Given the description of an element on the screen output the (x, y) to click on. 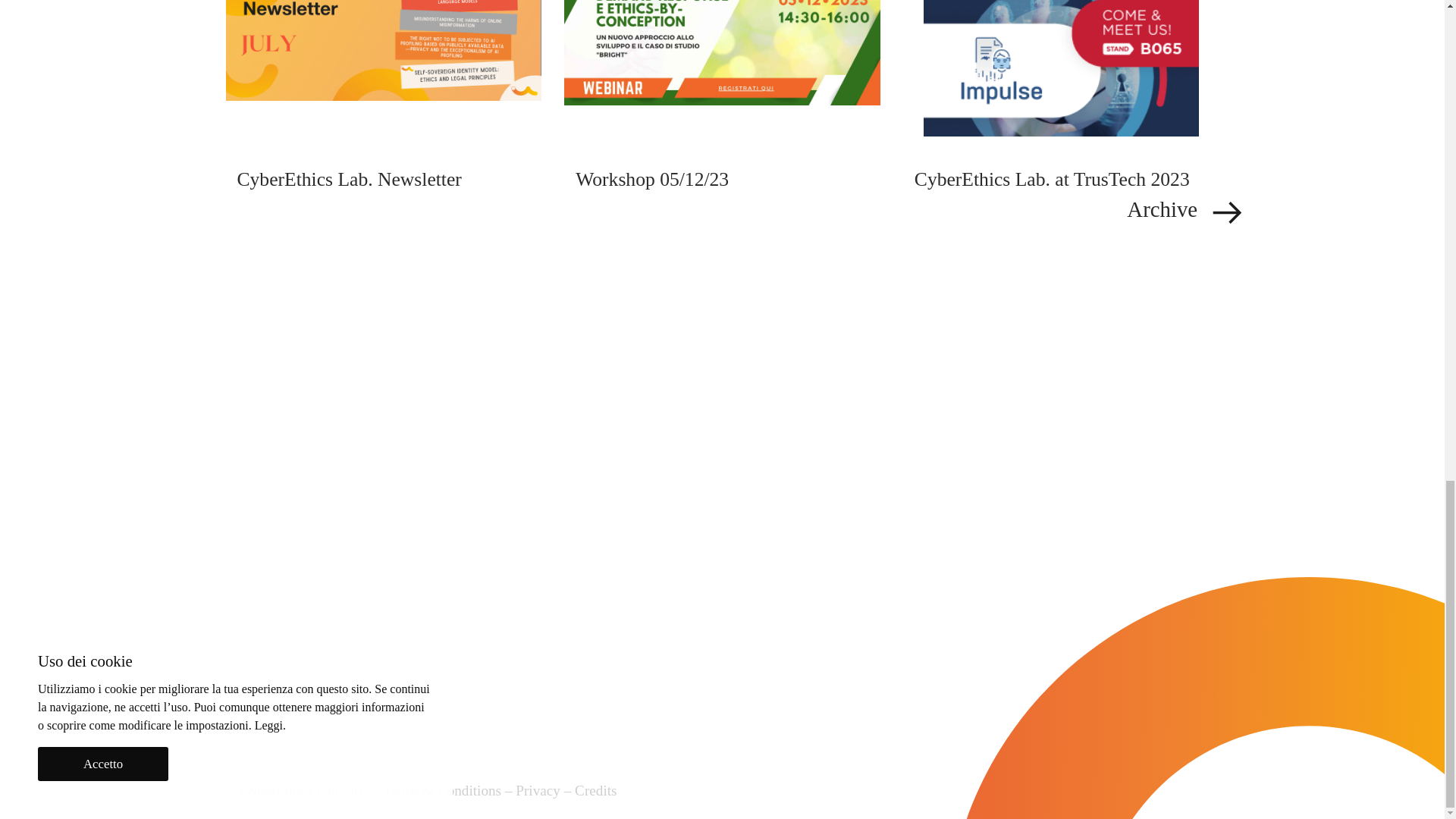
Credits (595, 790)
Archive (733, 212)
CyberEthics Lab. at TrusTech 2023 (1061, 179)
Privacy (537, 790)
CyberEthics Lab. Newsletter (383, 179)
